Given the description of an element on the screen output the (x, y) to click on. 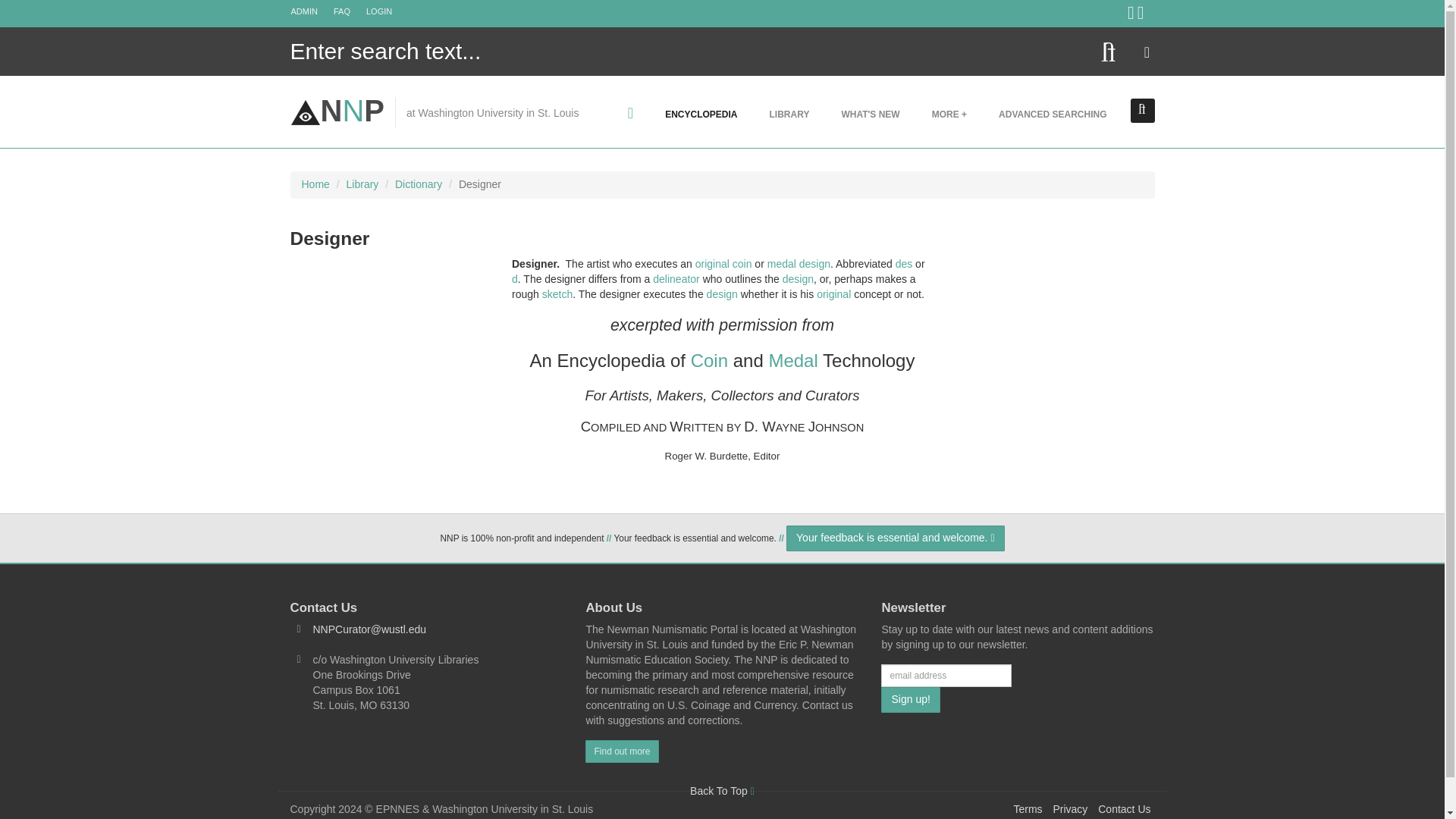
WHAT'S NEW (870, 113)
FAQ (349, 11)
LOGIN (386, 11)
Home (315, 184)
ADMIN (311, 11)
ADVANCED SEARCHING (1052, 113)
LIBRARY (789, 113)
NNP (336, 110)
Home (336, 110)
Back to top (722, 790)
